Given the description of an element on the screen output the (x, y) to click on. 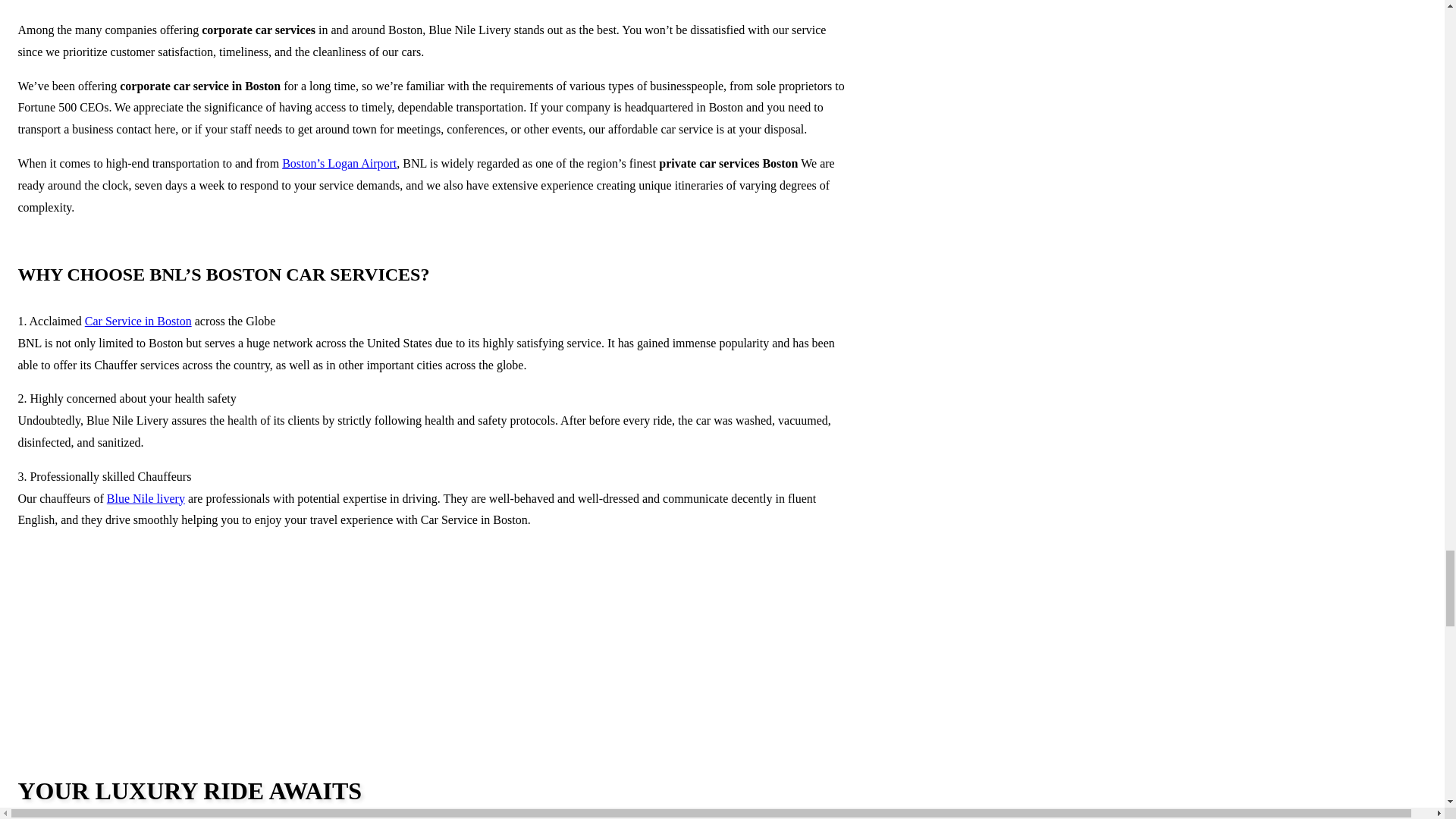
Town car service boston (215, 693)
